Given the description of an element on the screen output the (x, y) to click on. 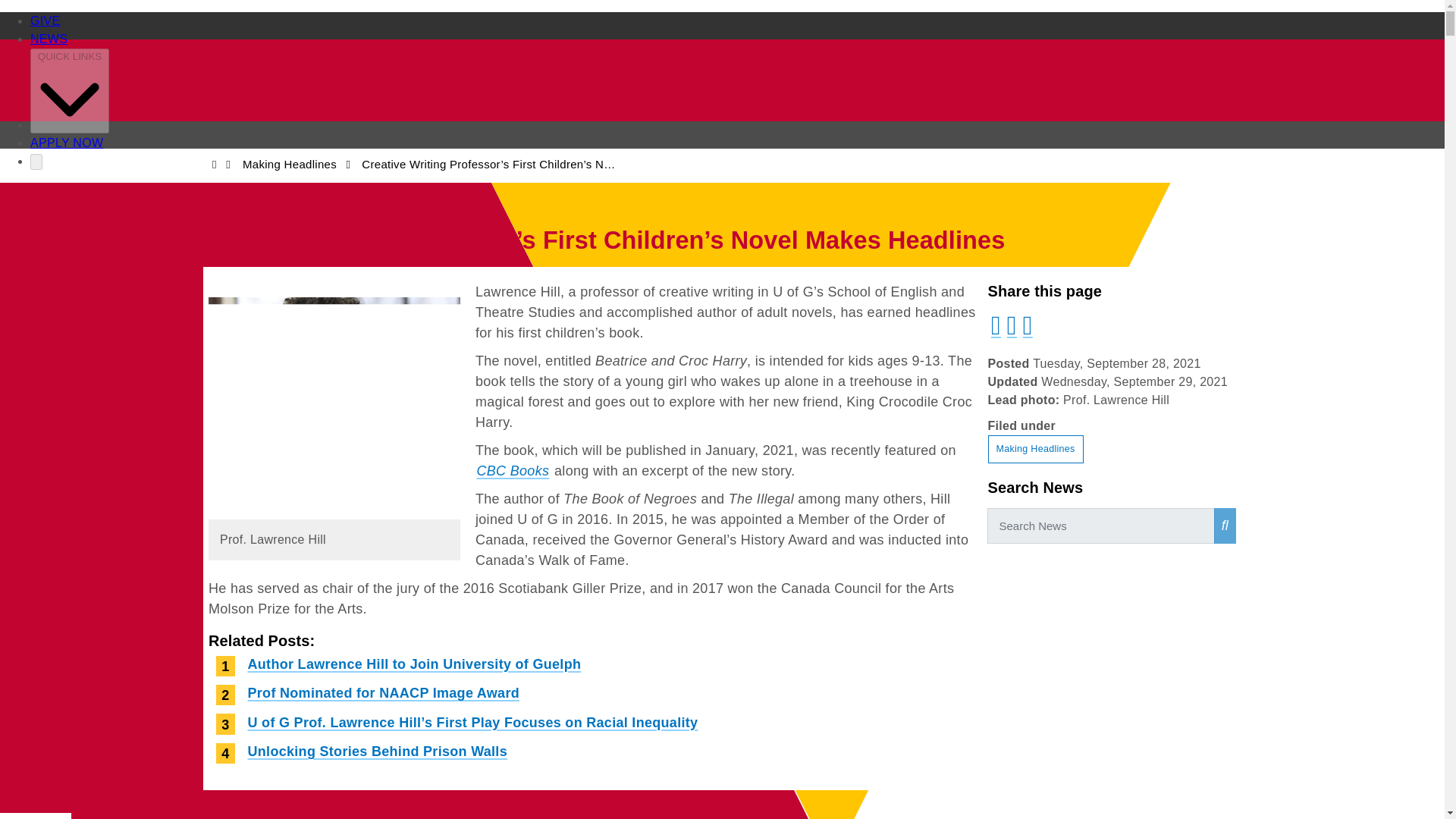
Making Headlines (1035, 448)
Unlocking Stories Behind Prison Walls (377, 751)
Author Lawrence Hill to Join University of Guelph (414, 663)
Making Headlines (289, 164)
CBC Books (513, 470)
Prof Nominated for NAACP Image Award (383, 692)
